Given the description of an element on the screen output the (x, y) to click on. 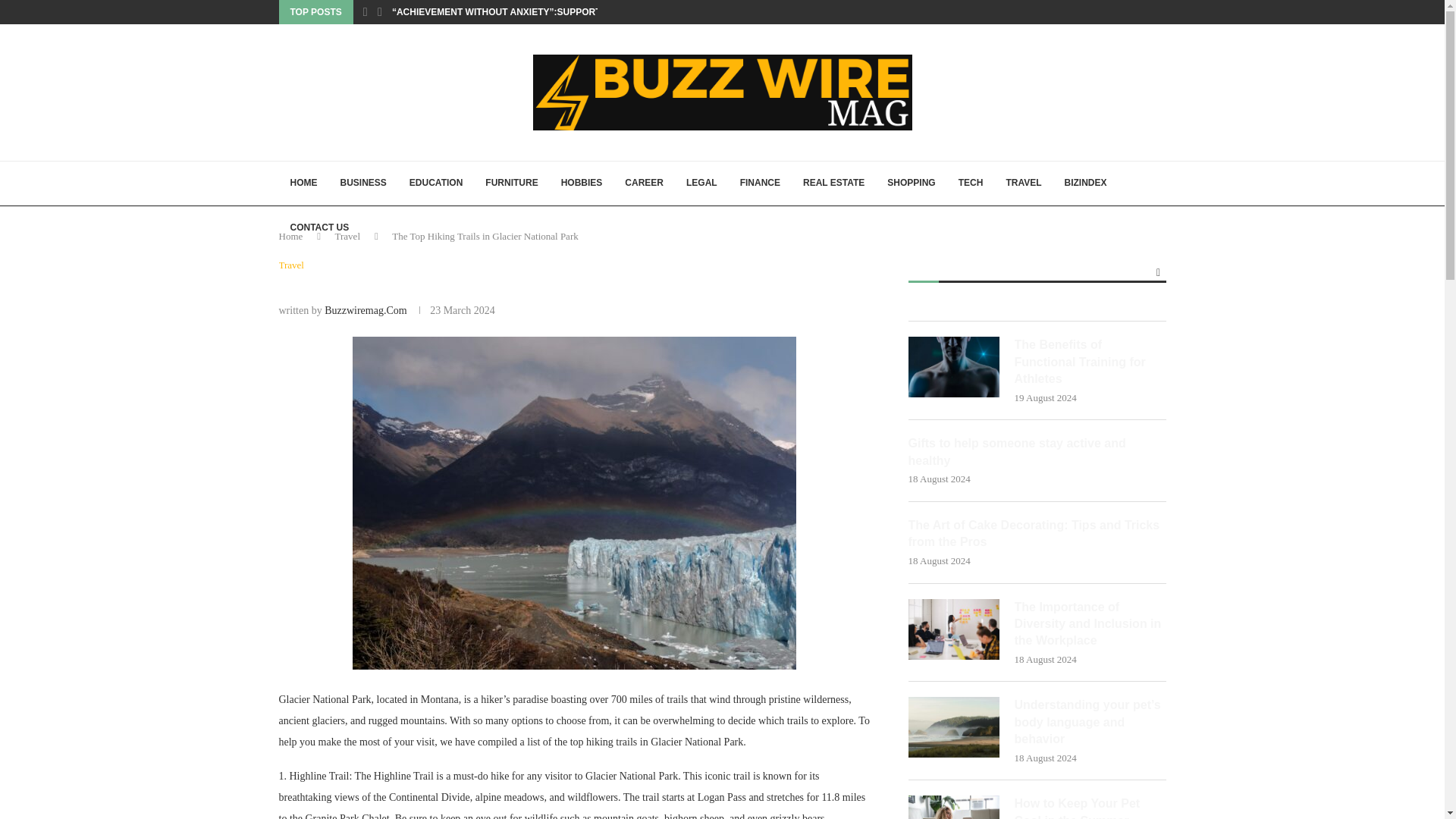
LEGAL (702, 183)
BUSINESS (363, 183)
CONTACT US (320, 227)
TRAVEL (1023, 183)
SHOPPING (911, 183)
The Benefits of Functional Training for Athletes (953, 366)
BIZINDEX (1085, 183)
Home (290, 235)
HOME (304, 183)
Travel (291, 265)
